Given the description of an element on the screen output the (x, y) to click on. 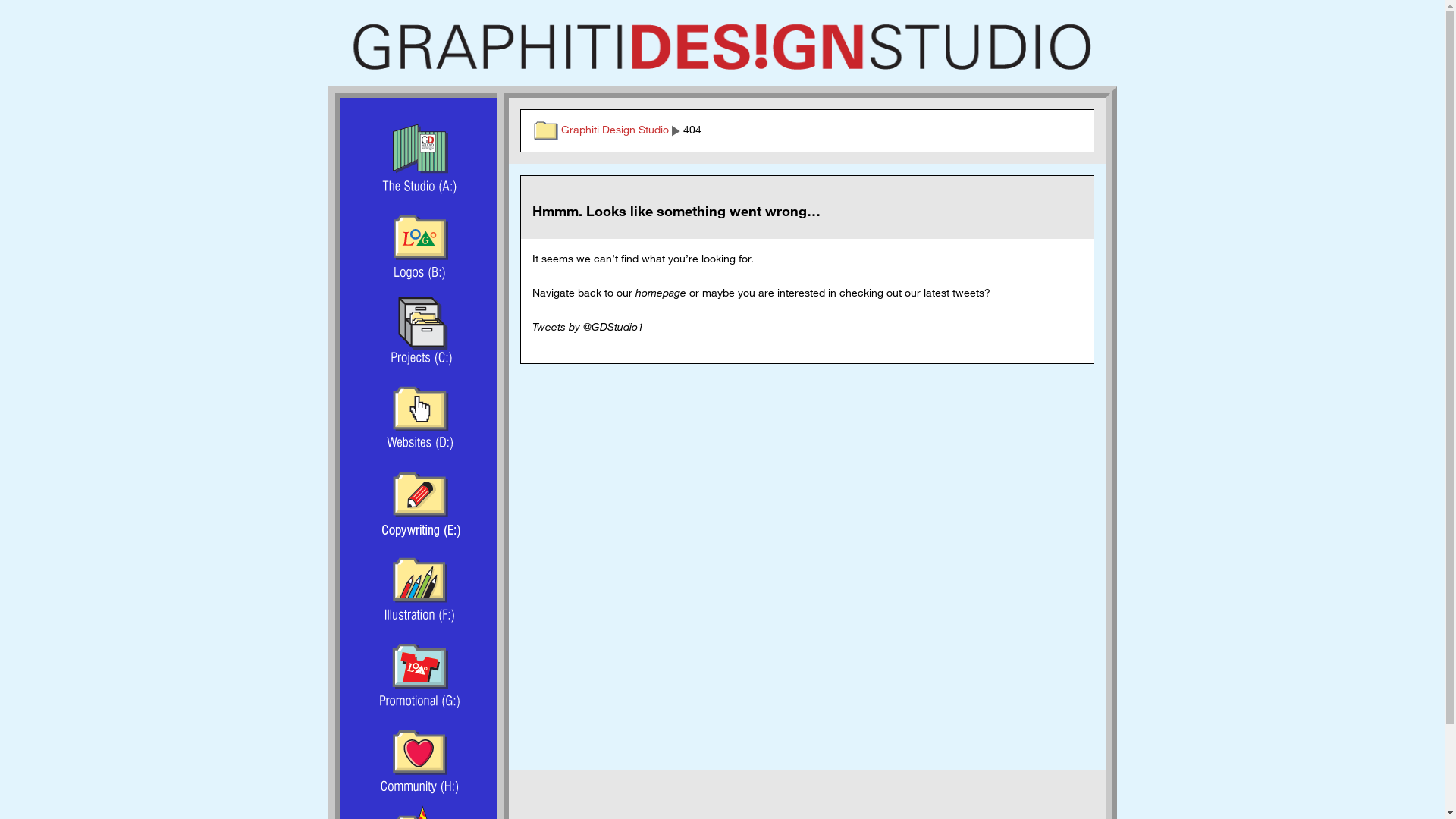
Tweets by @GDStudio1 Element type: text (587, 326)
homepage Element type: text (660, 291)
Graphiti Design Studio Element type: hover (721, 46)
